Given the description of an element on the screen output the (x, y) to click on. 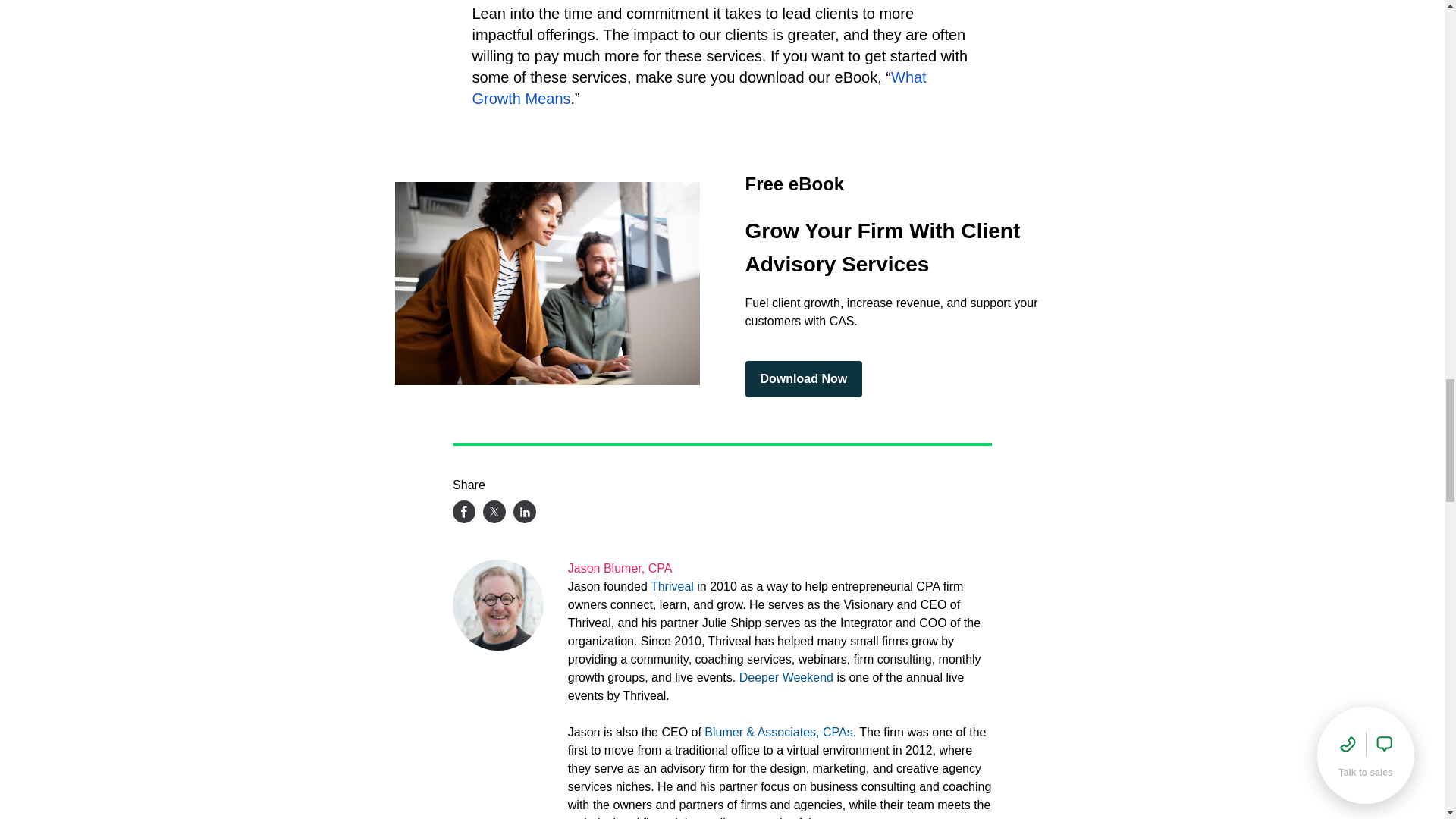
Share on Facebook (464, 511)
Share on Twitter (494, 511)
What Growth Means (698, 87)
Share on LinkedIn (524, 511)
Download Now (802, 379)
